Given the description of an element on the screen output the (x, y) to click on. 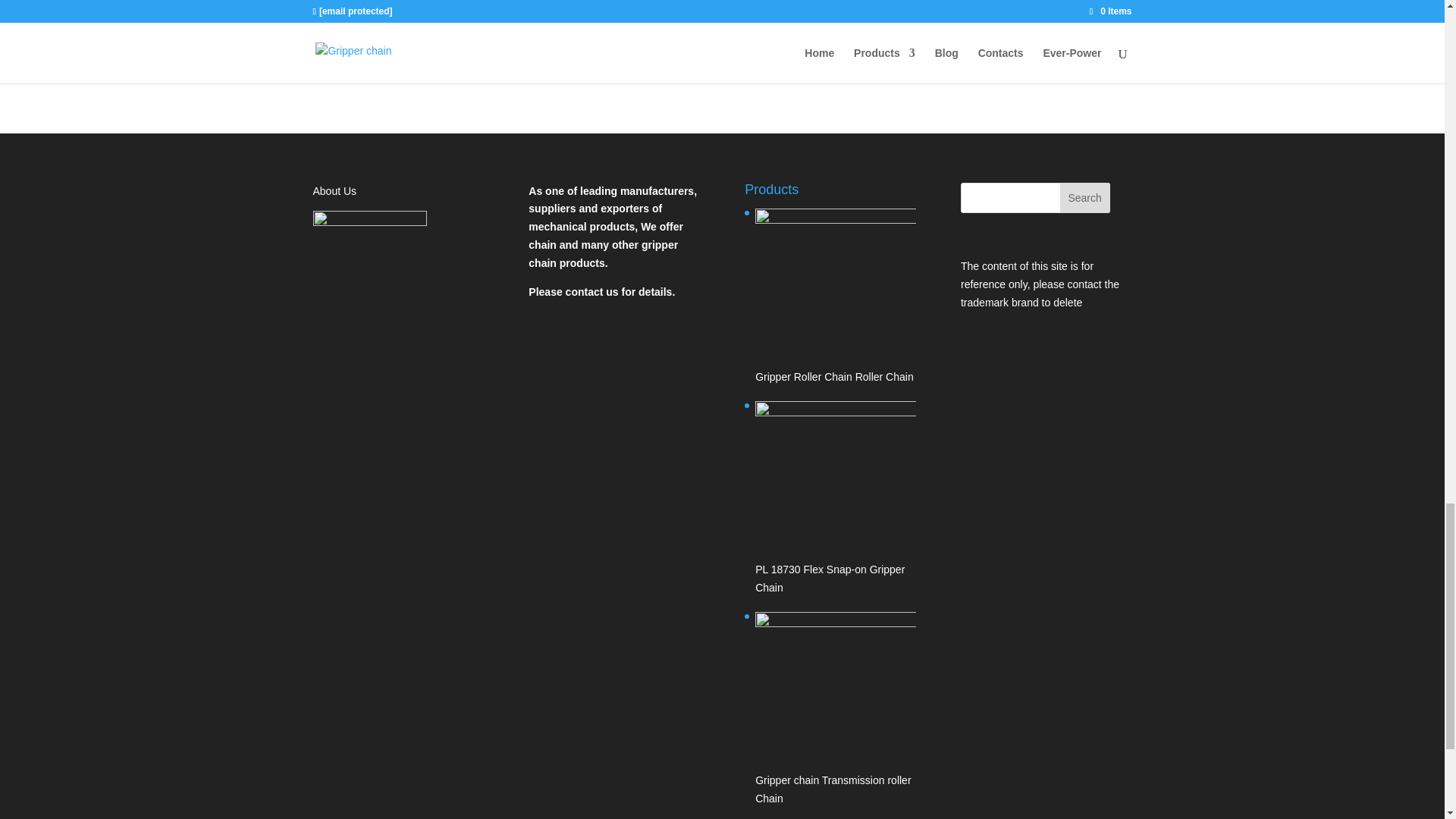
Search (1084, 197)
About Us (334, 191)
Gripper Roller Chain Roller Chain (835, 298)
Search (1084, 197)
